Given the description of an element on the screen output the (x, y) to click on. 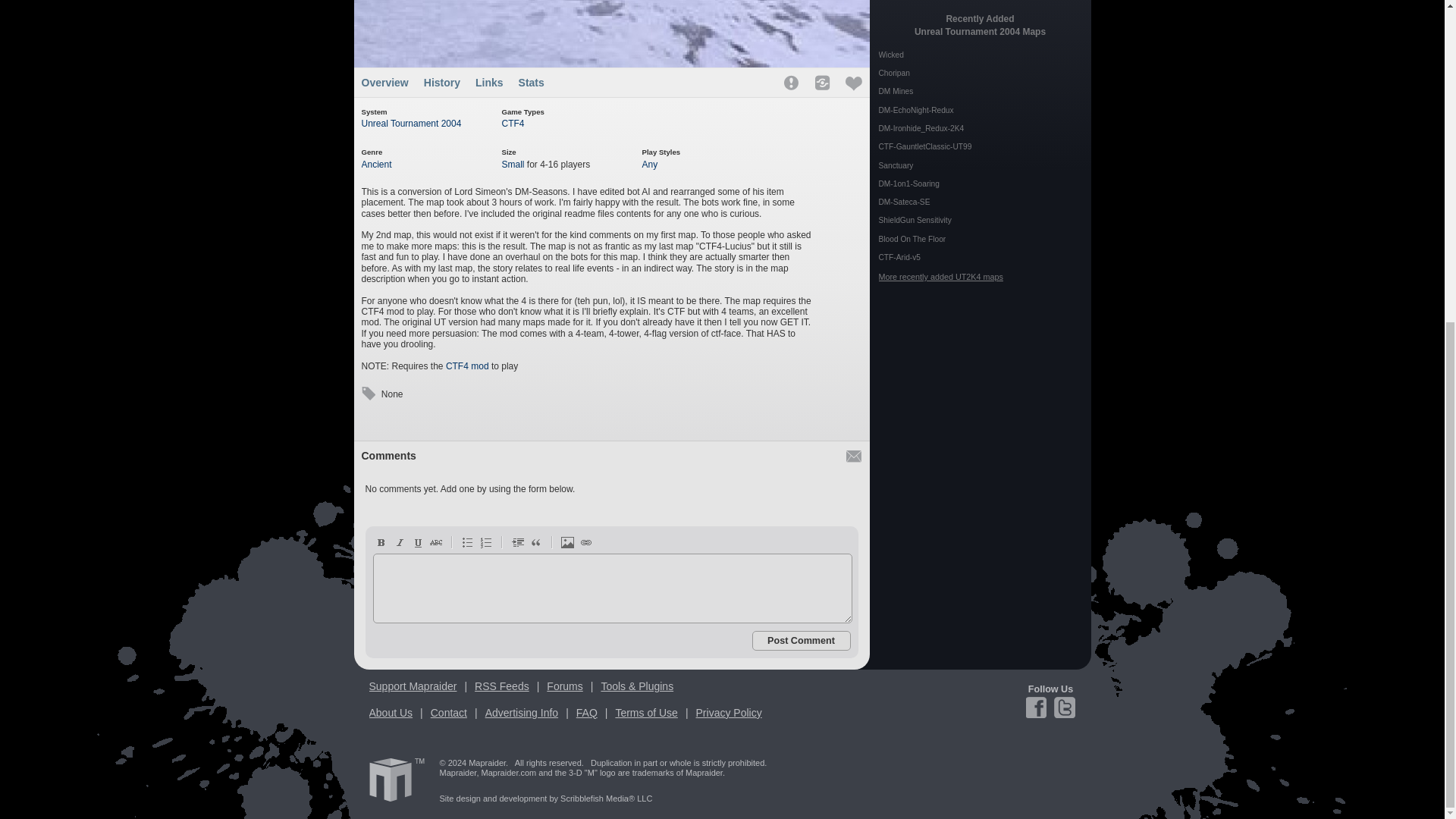
Browse all Unreal Tournament 2004 maps (411, 122)
Underline (417, 541)
Browse all Ancient maps for Unreal Tournament 2004 (376, 163)
Post Comment (801, 640)
Bold (381, 541)
Browse all CTF4 maps for any play style (650, 163)
Add Tags (367, 393)
Italic (399, 541)
Browse all Small maps for Unreal Tournament 2004 (513, 163)
Brows all CTF4 maps for Unreal Tournament 2004 (513, 122)
